Given the description of an element on the screen output the (x, y) to click on. 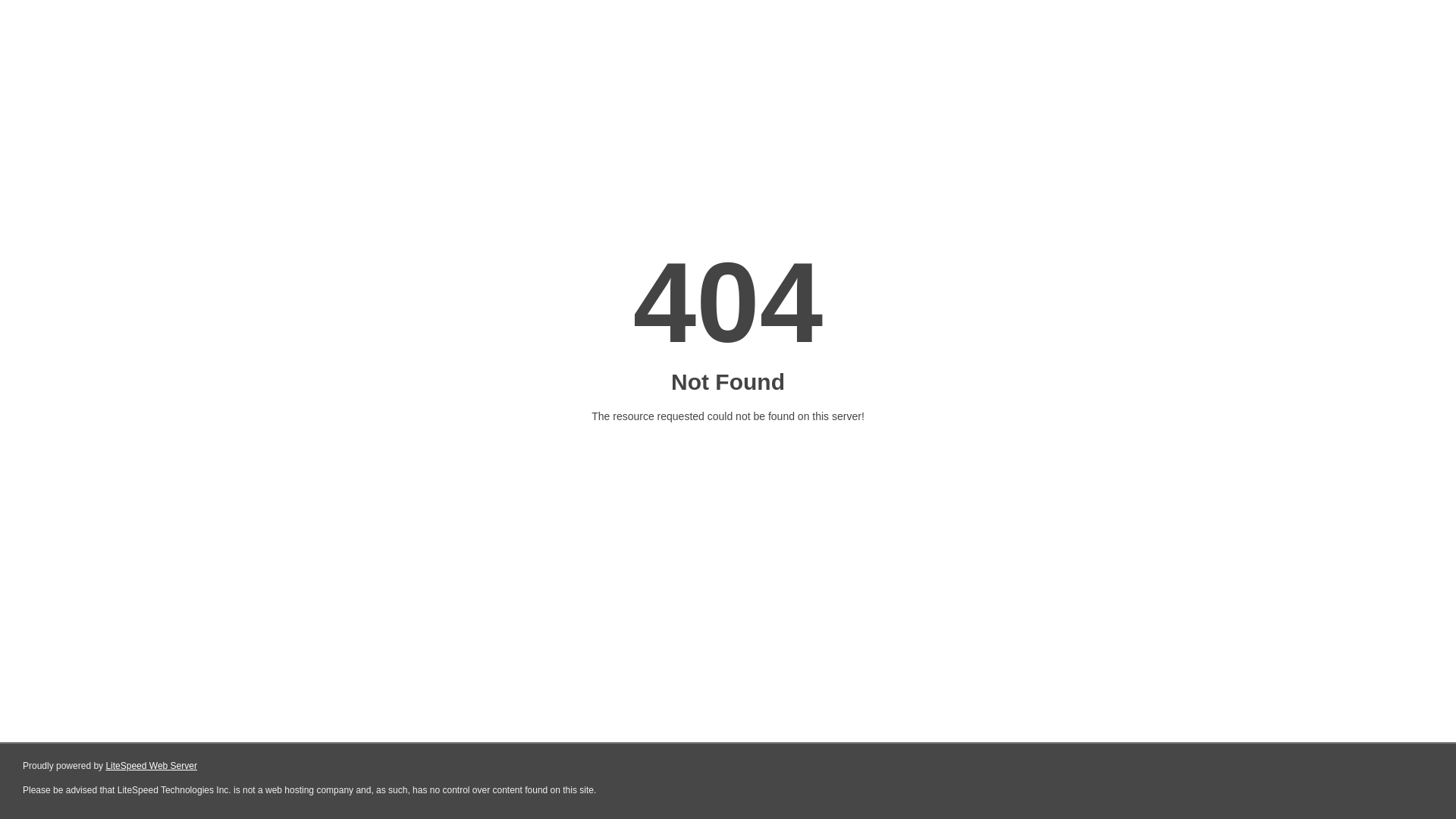
LiteSpeed Web Server Element type: text (151, 765)
